Given the description of an element on the screen output the (x, y) to click on. 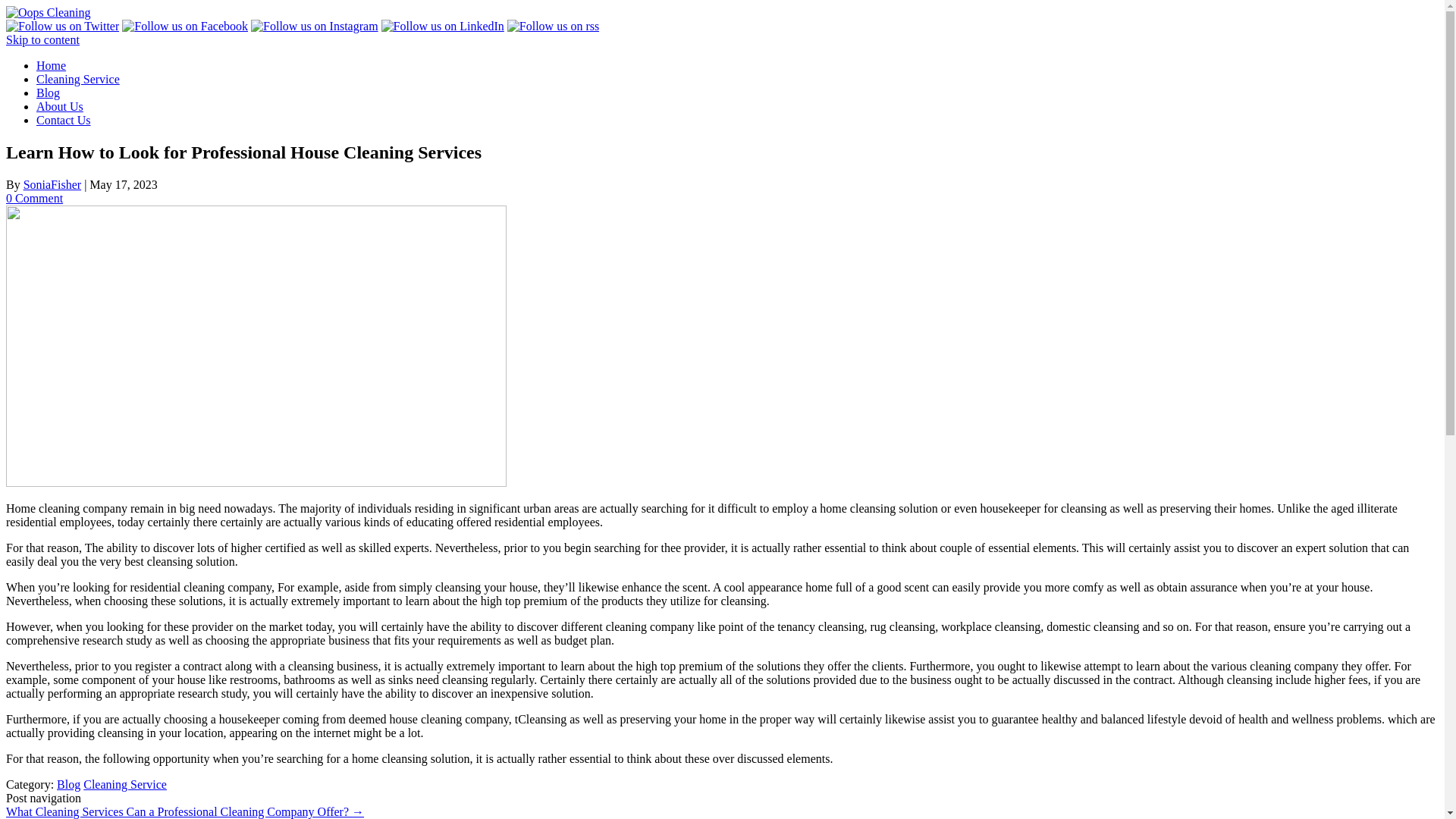
Oops Cleaning (47, 11)
Skip to content (42, 39)
About Us (59, 106)
Contact Us (63, 119)
Posts by SoniaFisher (52, 184)
Home (50, 65)
Cleaning Service (124, 784)
Skip to content (42, 39)
Blog (68, 784)
0 Comment (33, 197)
Blog (47, 92)
SoniaFisher (52, 184)
Cleaning Service (77, 78)
